Given the description of an element on the screen output the (x, y) to click on. 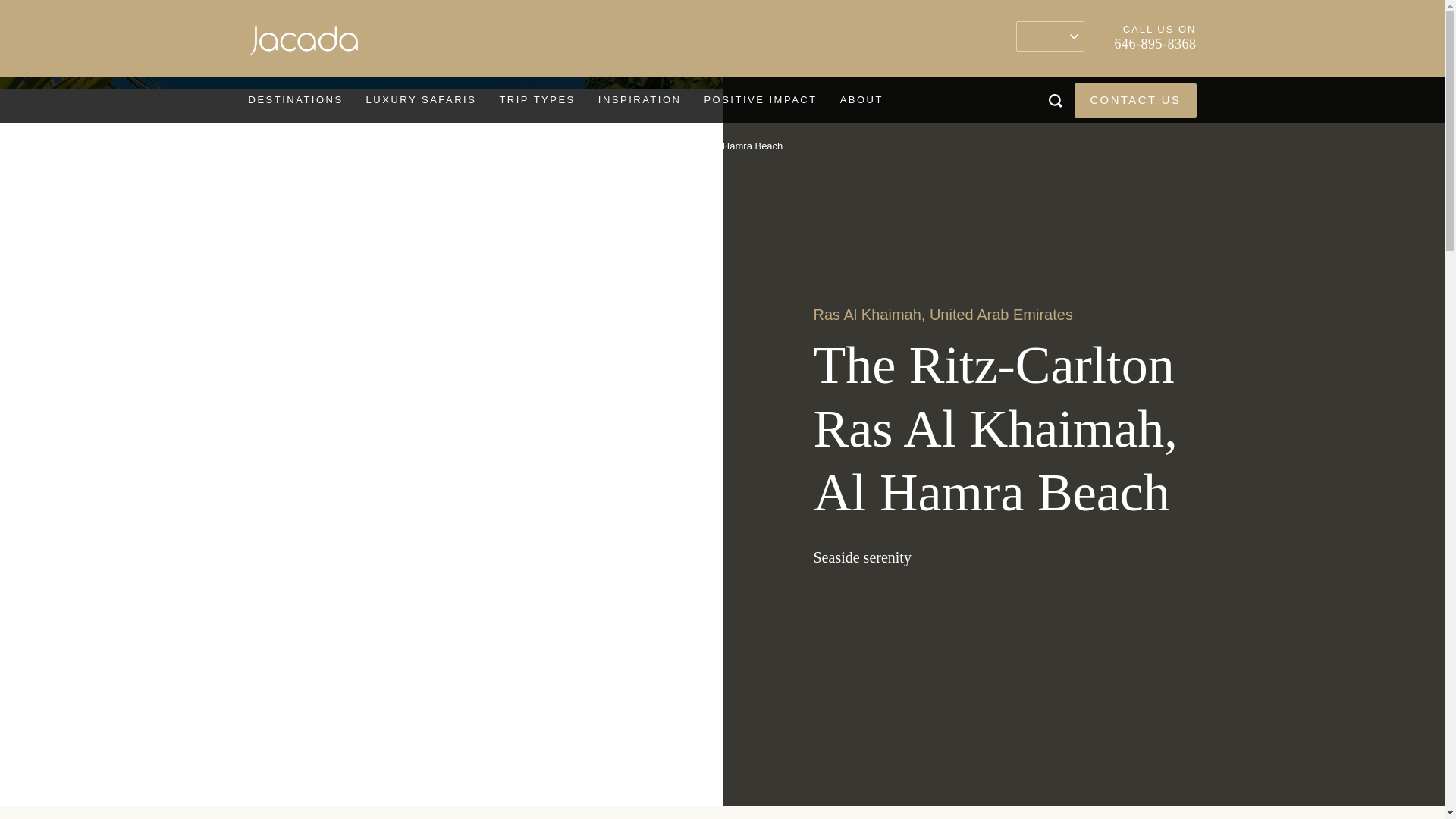
DESTINATIONS (294, 99)
Jacada Travel (303, 43)
646-895-8368 (1155, 43)
